Given the description of an element on the screen output the (x, y) to click on. 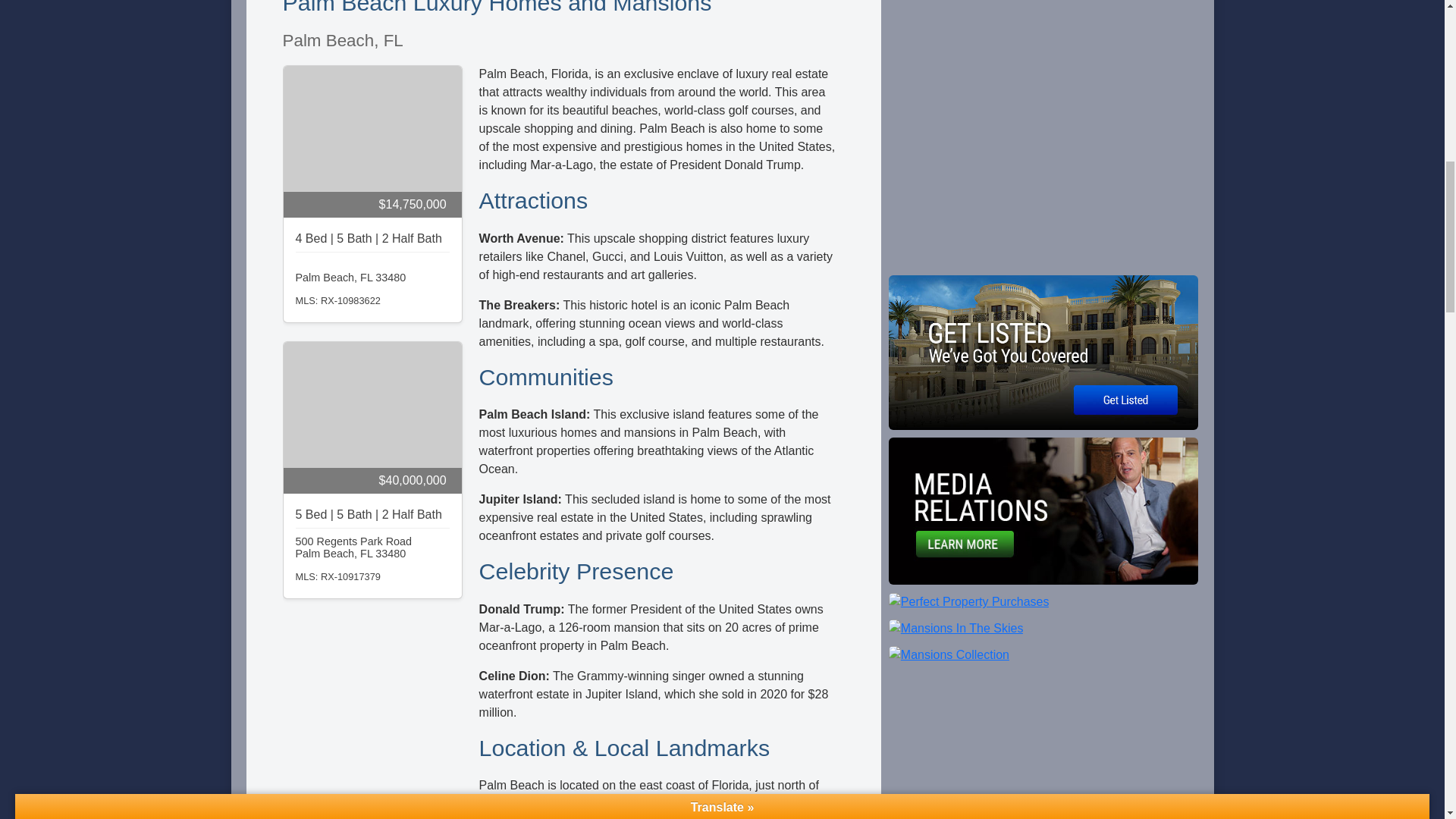
Mansions In The Skies (955, 626)
Mansions Collection (948, 653)
Perfect Property Purchases (968, 600)
